Given the description of an element on the screen output the (x, y) to click on. 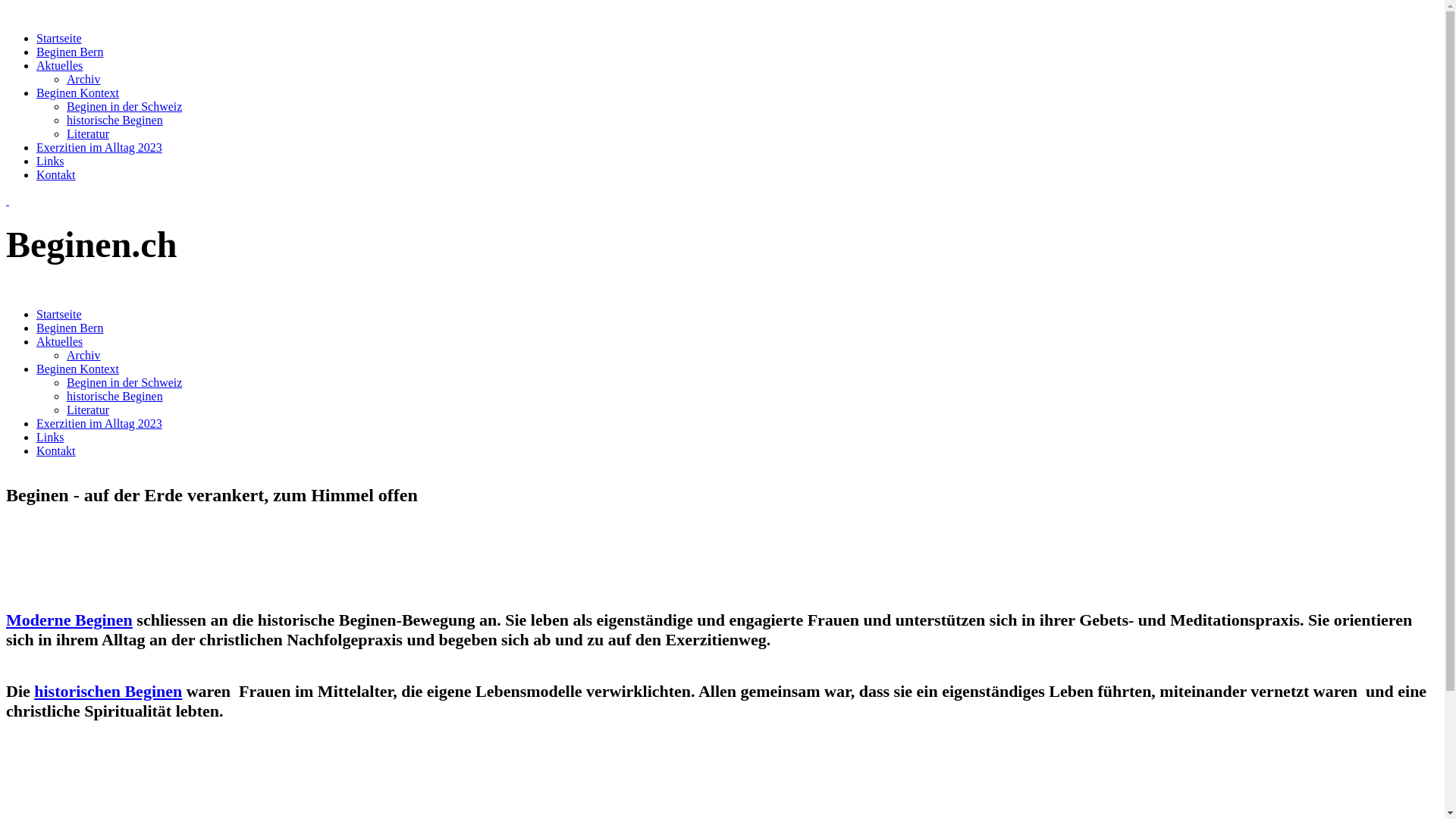
Kontakt Element type: text (55, 450)
Archiv Element type: text (83, 354)
Links Element type: text (49, 160)
Startseite Element type: text (58, 37)
Literatur Element type: text (87, 409)
historische Beginen Element type: text (114, 395)
Beginen Bern Element type: text (69, 51)
Kontakt Element type: text (55, 174)
Exerzitien im Alltag 2023 Element type: text (99, 423)
Literatur Element type: text (87, 133)
historischen Beginen Element type: text (108, 690)
historische Beginen Element type: text (114, 119)
Exerzitien im Alltag 2023 Element type: text (99, 147)
Links Element type: text (49, 436)
Beginen Bern Element type: text (69, 327)
Archiv Element type: text (83, 78)
  Element type: text (7, 200)
Beginen Kontext Element type: text (77, 368)
Startseite Element type: text (58, 313)
Beginen in der Schweiz Element type: text (124, 106)
Moderne Beginen Element type: text (69, 619)
Beginen Kontext Element type: text (77, 92)
Beginen in der Schweiz Element type: text (124, 382)
Aktuelles Element type: text (59, 341)
Aktuelles Element type: text (59, 65)
